Given the description of an element on the screen output the (x, y) to click on. 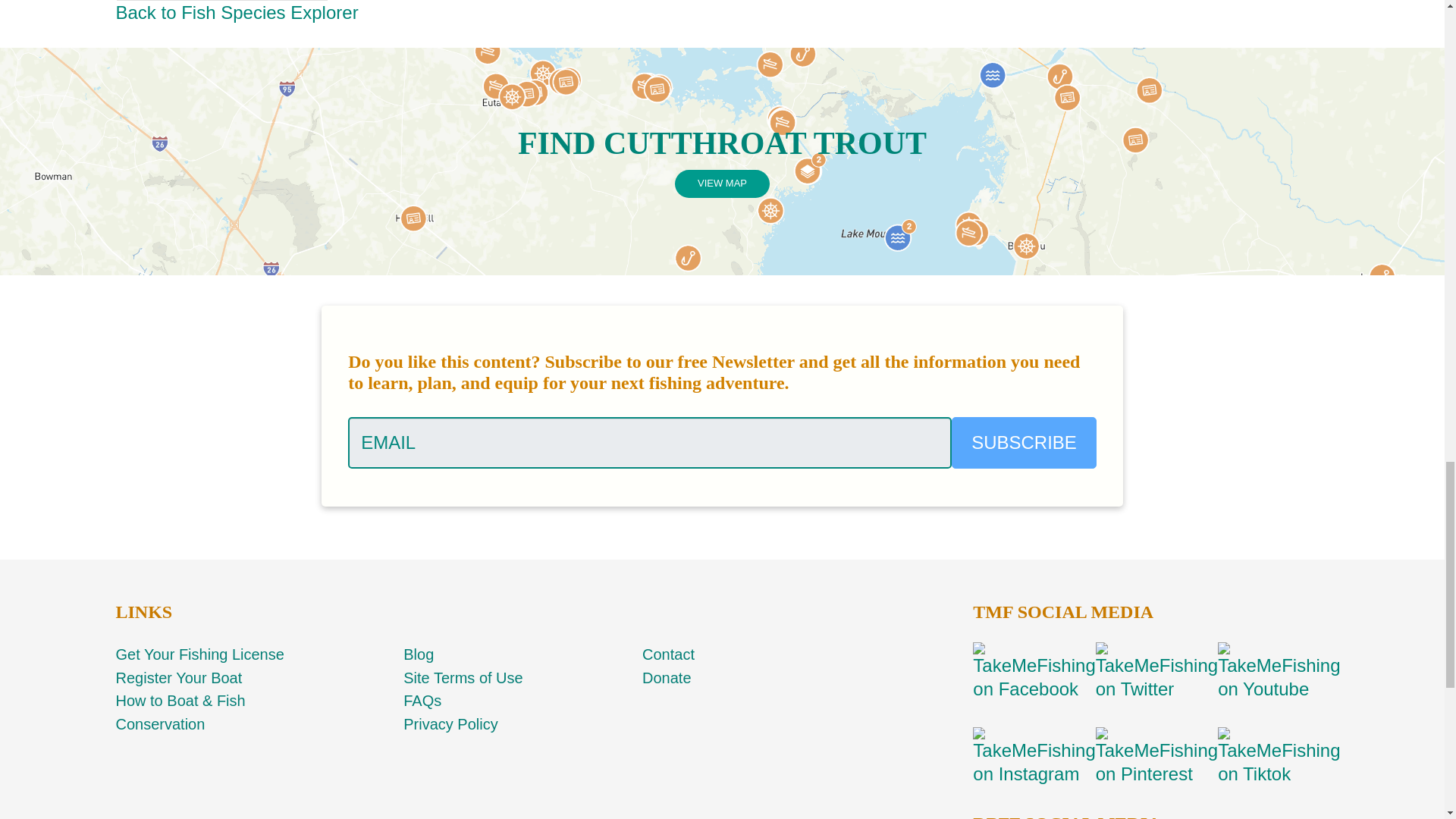
Subscribe (1024, 442)
